Given the description of an element on the screen output the (x, y) to click on. 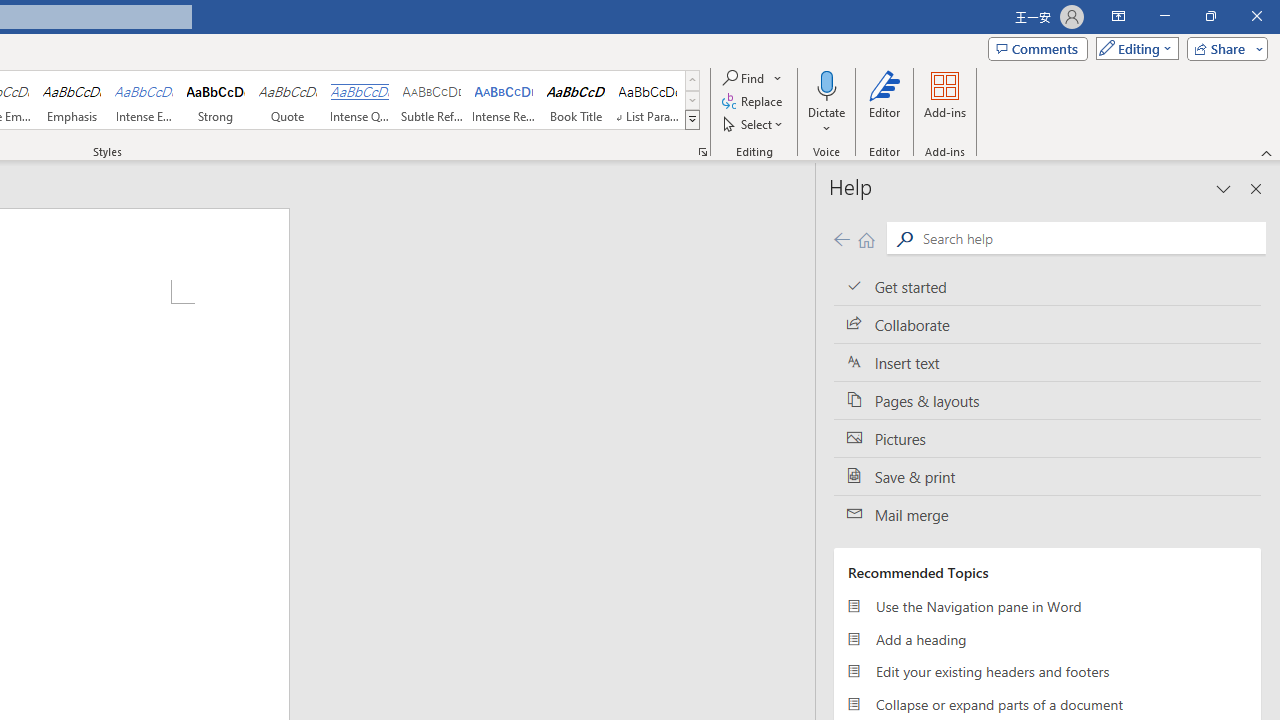
Add a heading (1047, 638)
Collaborate (1047, 325)
Get started (1047, 286)
Pages & layouts (1047, 400)
Book Title (575, 100)
Collapse or expand parts of a document (1047, 704)
